Given the description of an element on the screen output the (x, y) to click on. 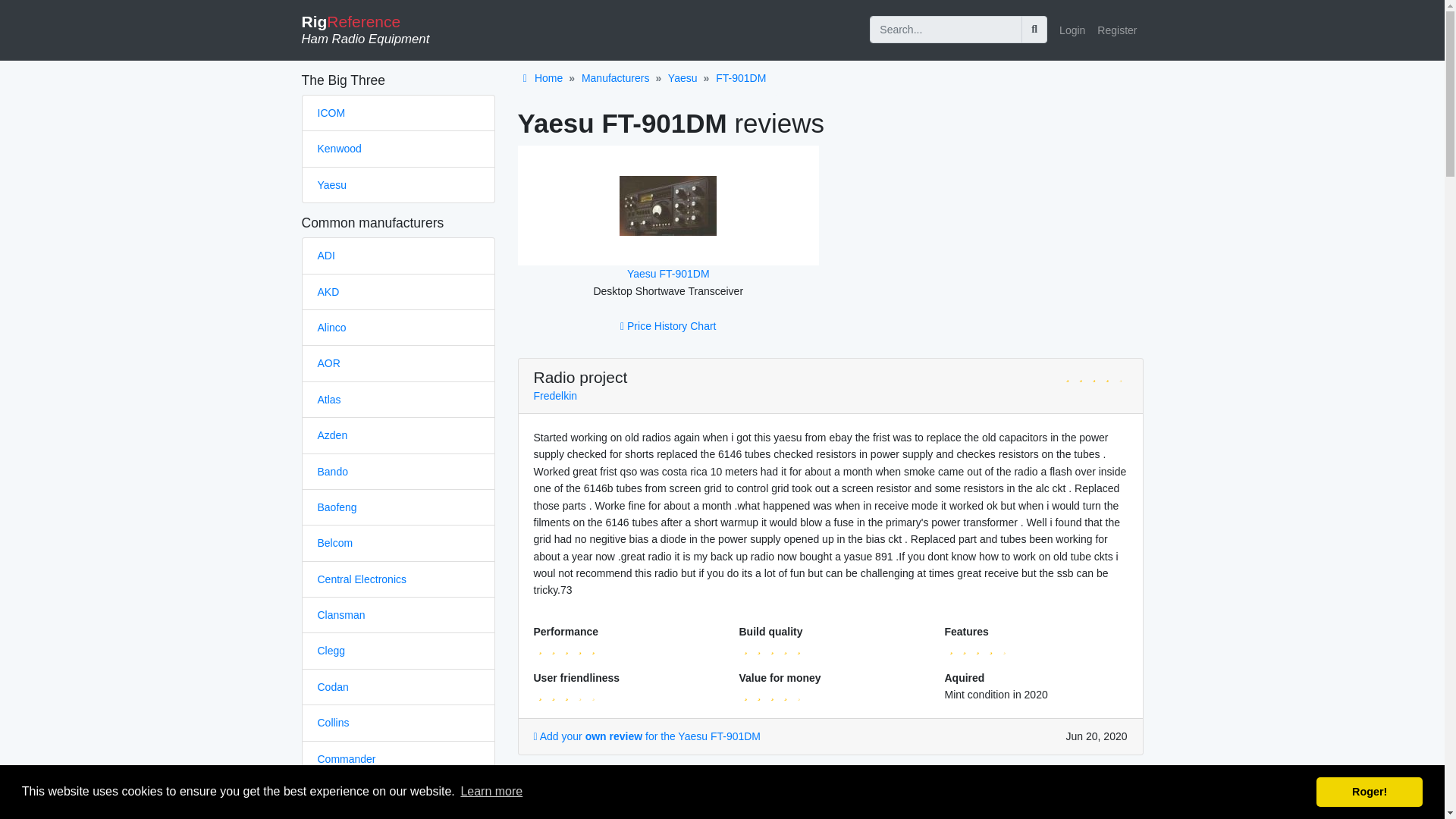
AKD (328, 291)
Register (1116, 30)
Login (1071, 30)
Bando (332, 471)
Baofeng (336, 507)
Commander (346, 758)
Clegg (331, 650)
ADI (325, 255)
Azden (332, 435)
Codan (332, 686)
Yaesu (331, 184)
ICOM (331, 112)
Kenwood (339, 148)
Atlas (328, 399)
Collins (333, 722)
